Given the description of an element on the screen output the (x, y) to click on. 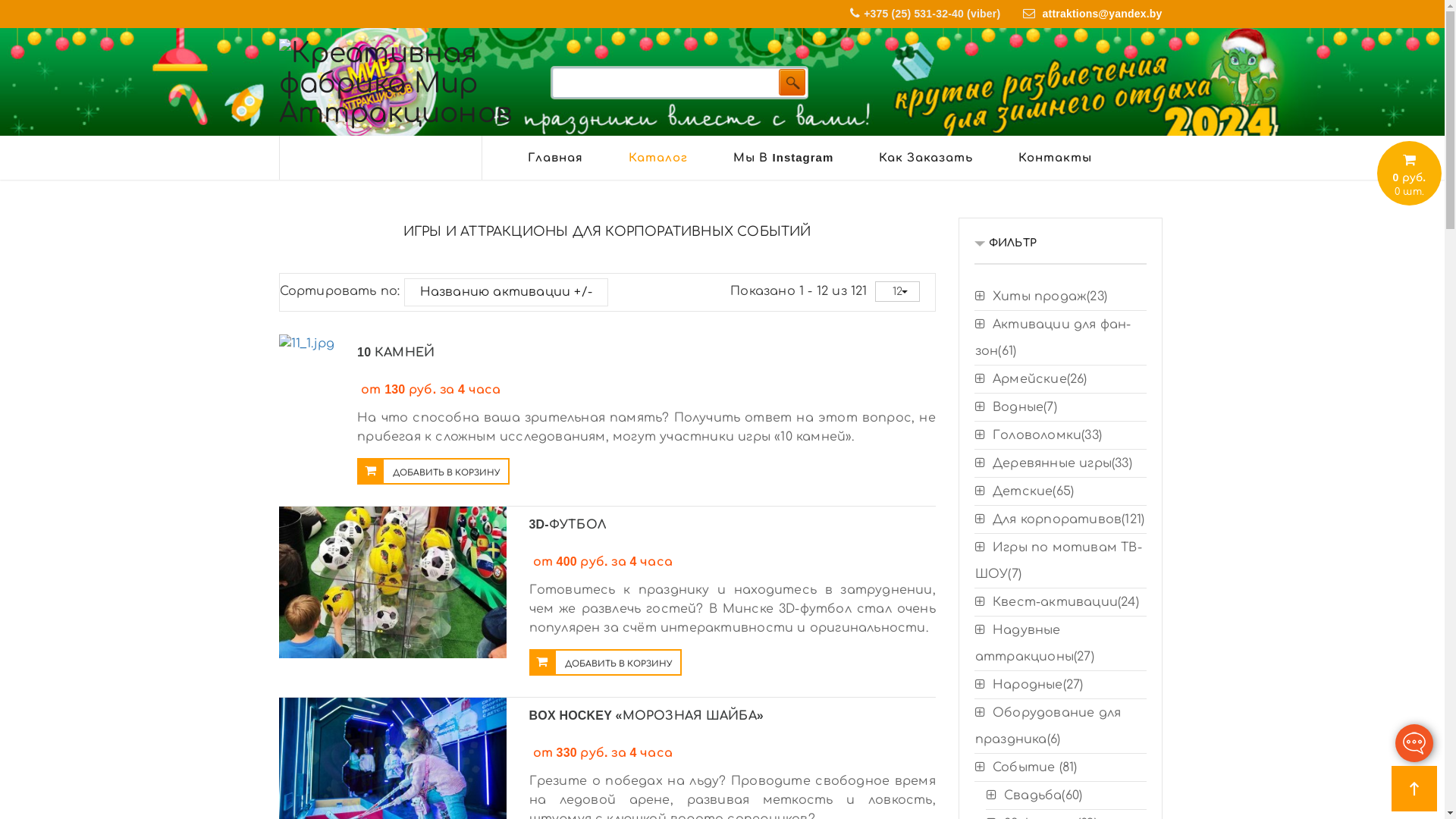
Go to top Element type: hover (1414, 788)
attraktions@yandex.by Element type: text (1102, 13)
